Given the description of an element on the screen output the (x, y) to click on. 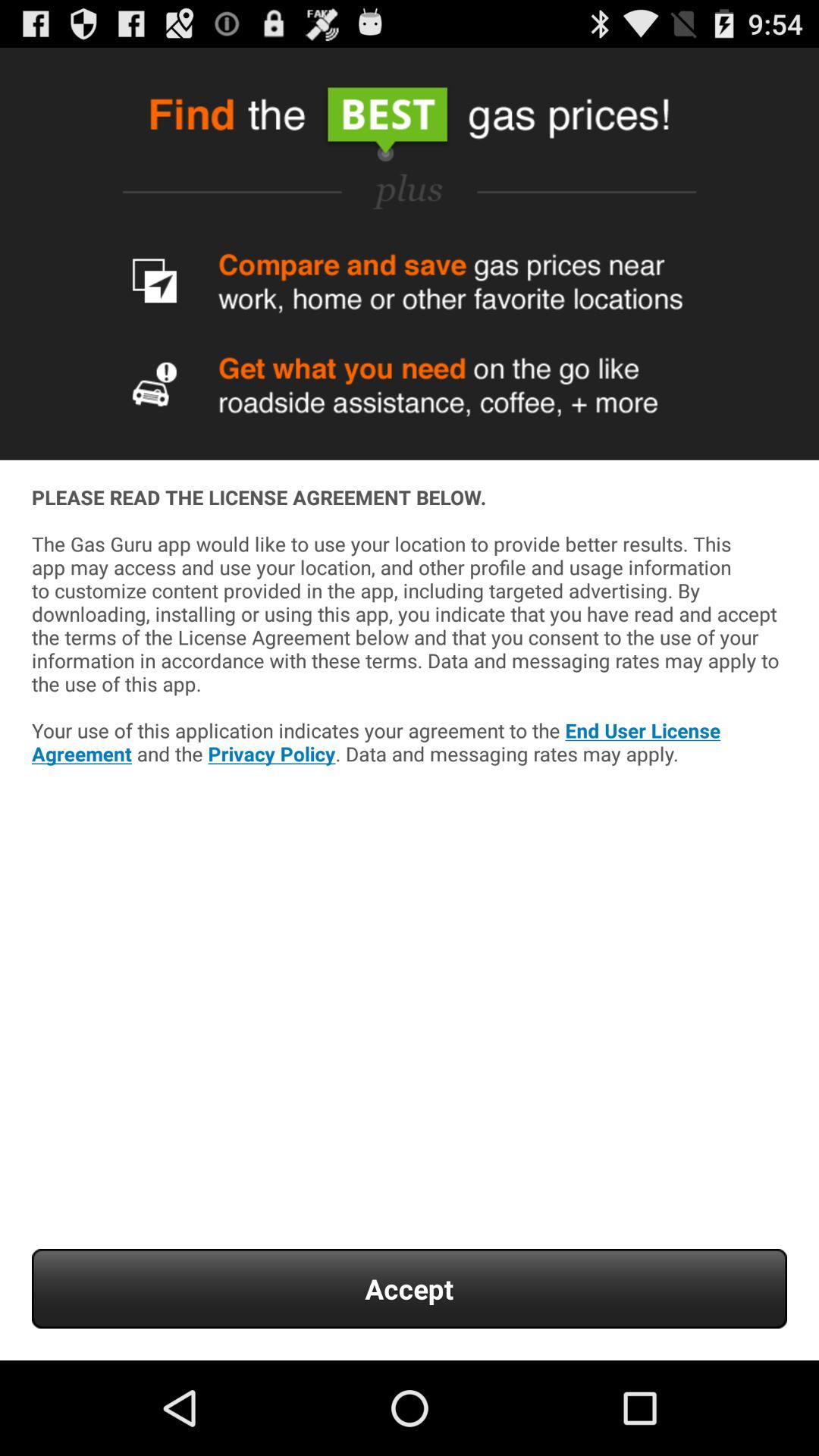
select icon above the accept item (409, 669)
